Given the description of an element on the screen output the (x, y) to click on. 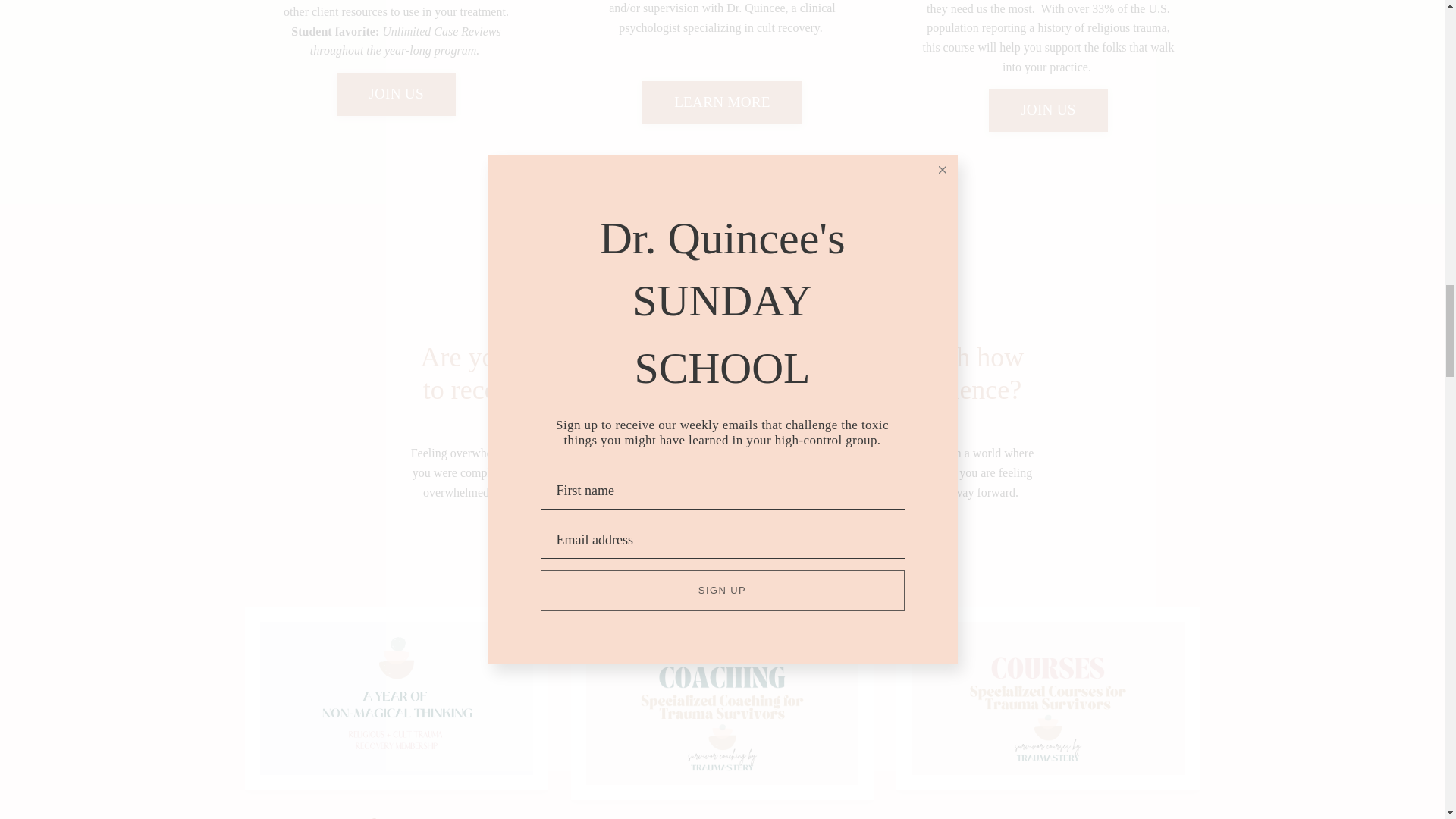
JOIN US (395, 94)
LEARN MORE (722, 102)
JOIN US (1048, 109)
